Given the description of an element on the screen output the (x, y) to click on. 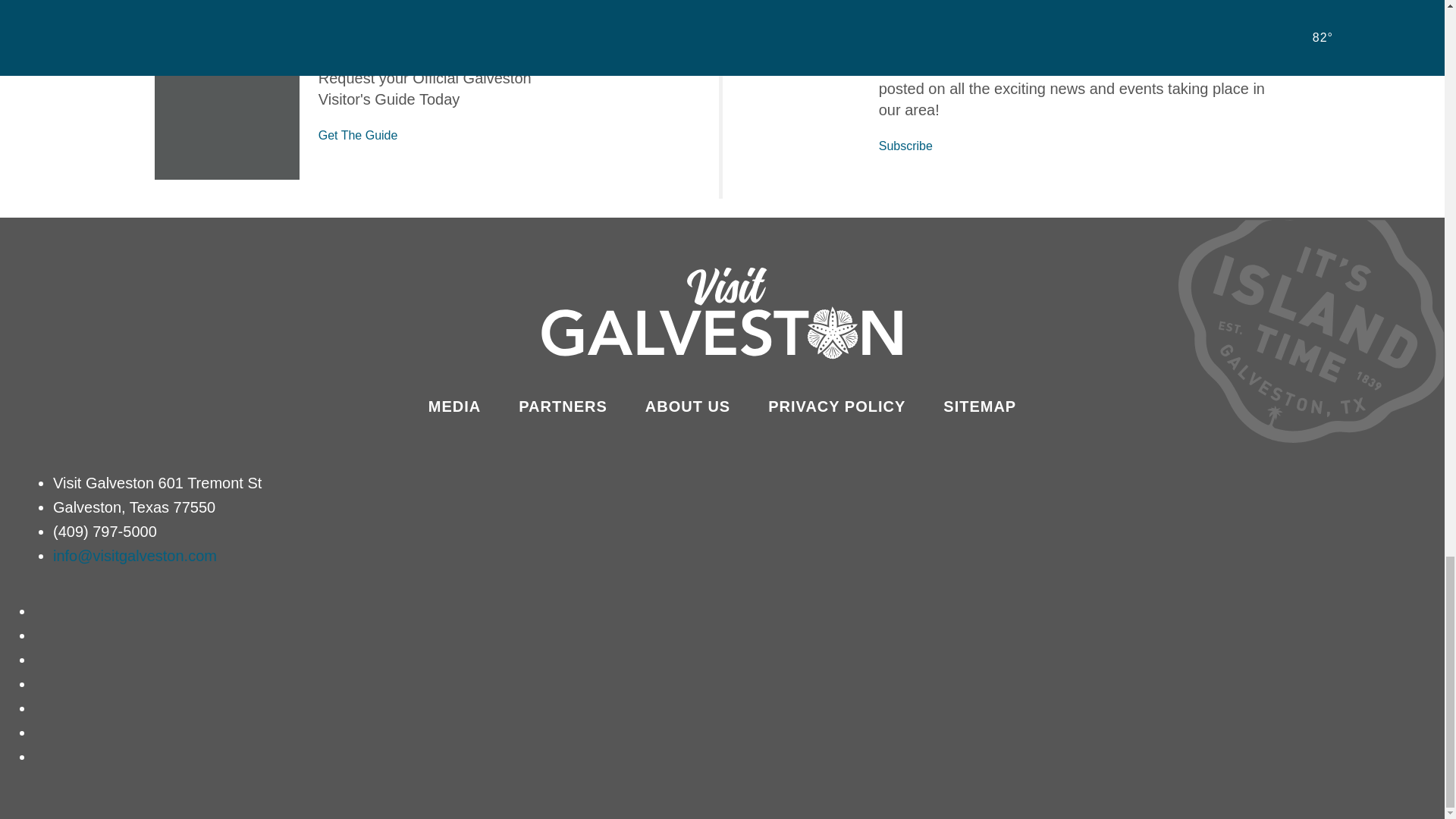
MEDIA (454, 406)
TikTok (42, 683)
PARTNERS (562, 406)
YouTube (42, 708)
Instagram (42, 635)
Get The Guide (357, 134)
PRIVACY POLICY (836, 406)
Podcast (42, 756)
ABOUT US (687, 406)
Twitter (42, 659)
